Given the description of an element on the screen output the (x, y) to click on. 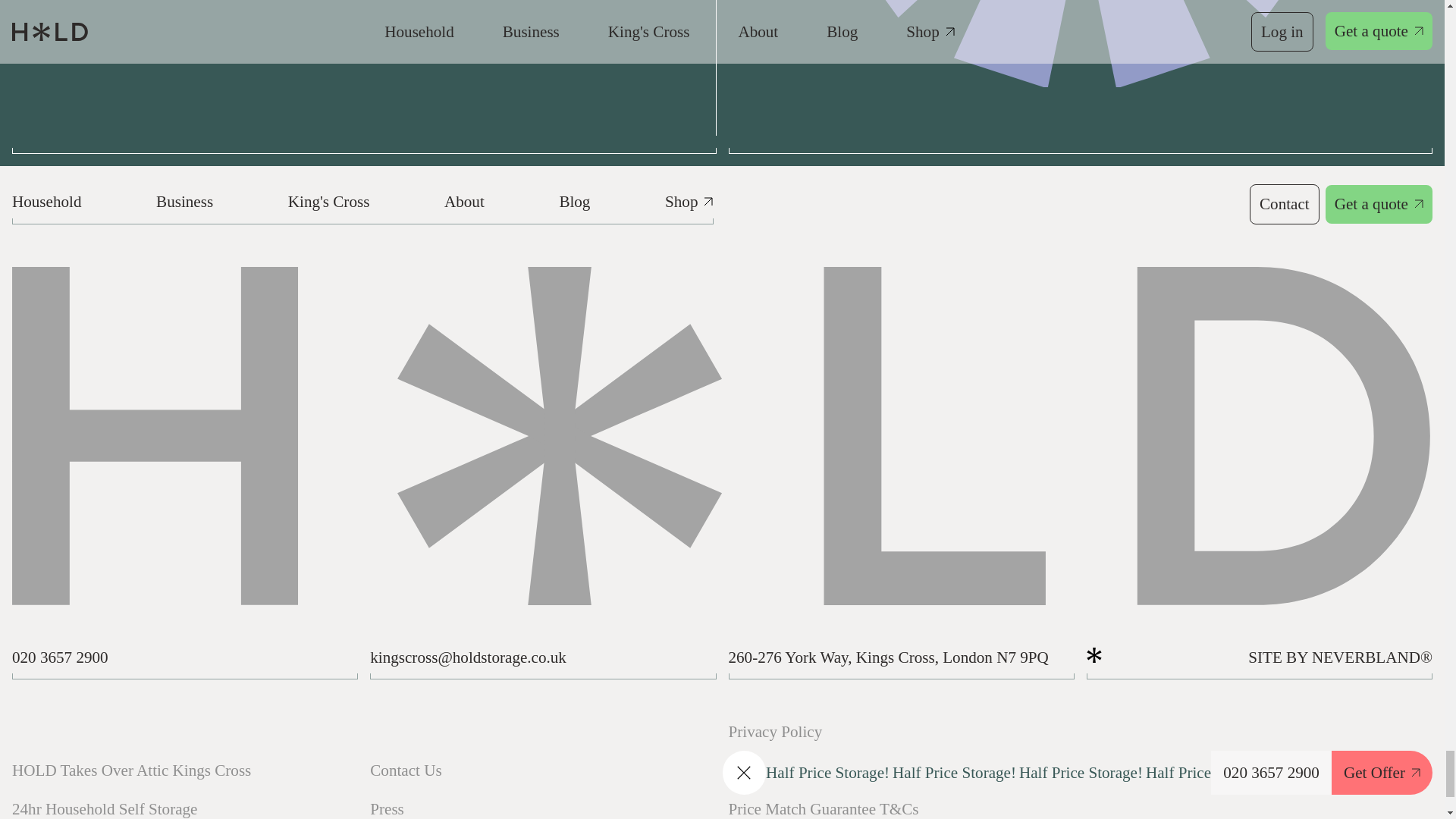
Contact (1284, 203)
